Given the description of an element on the screen output the (x, y) to click on. 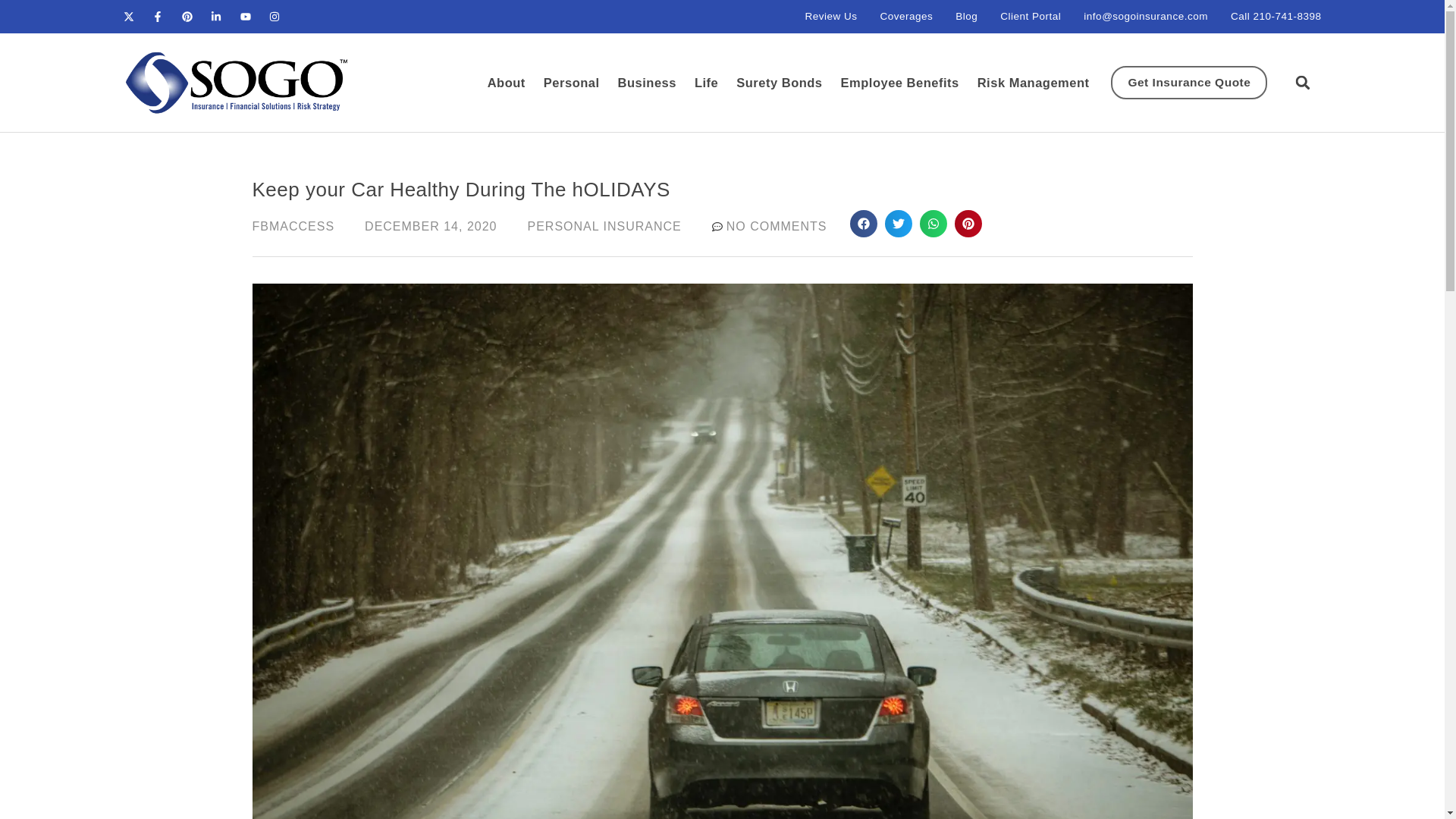
Business (646, 82)
Blog (965, 16)
Surety Bonds (779, 82)
Coverages (906, 16)
Client Portal (1030, 16)
Review Us (831, 16)
Risk Management (1032, 82)
Call 210-741-8398 (1276, 16)
About (506, 82)
Personal (571, 82)
Life (706, 82)
Employee Benefits (900, 82)
